Given the description of an element on the screen output the (x, y) to click on. 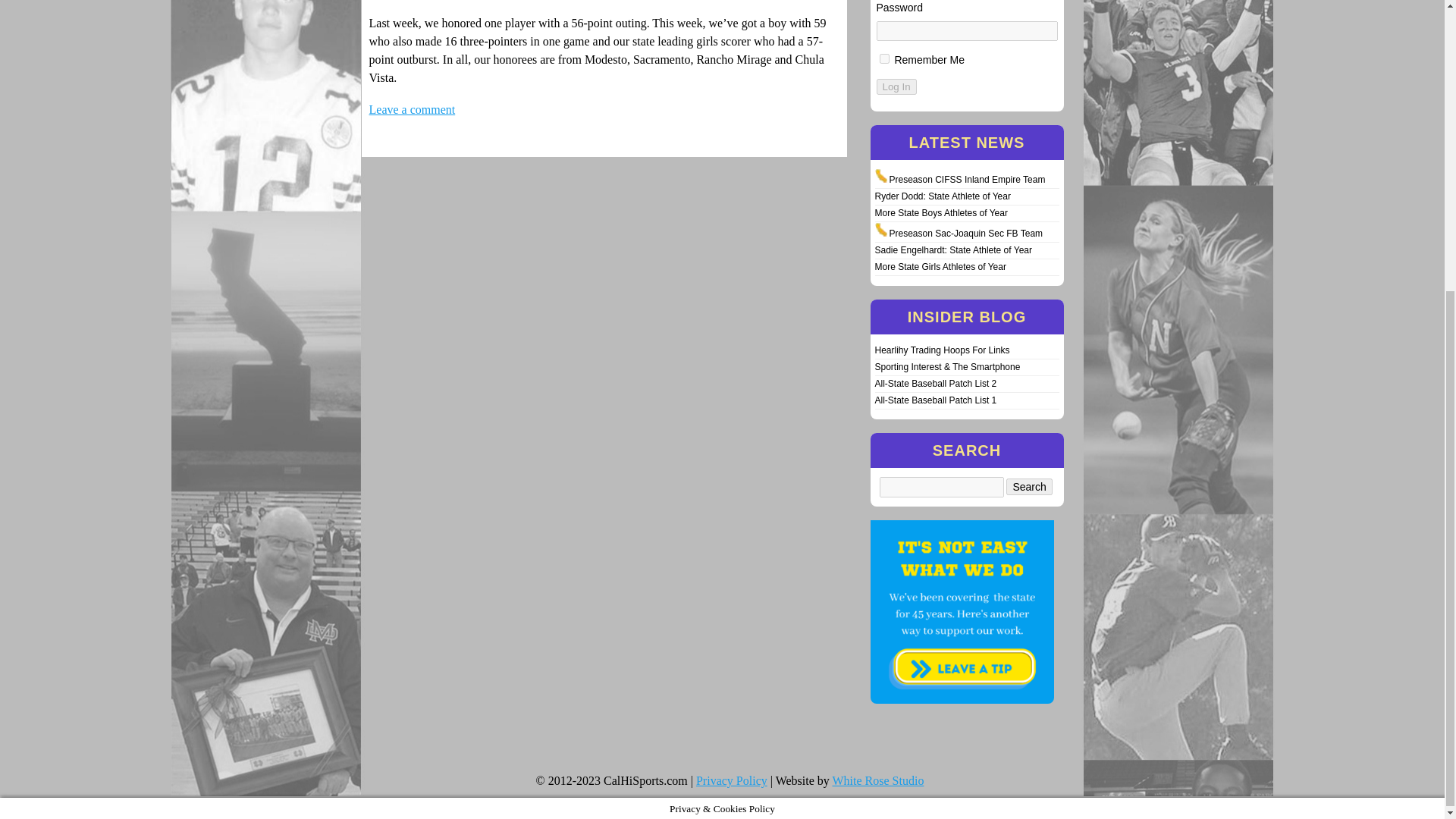
Permalink to Preseason Sac-Joaquin Sec FB Team (965, 233)
Permalink to All-State Baseball Patch List 2 (936, 383)
Permalink to All-State Baseball Patch List 1 (936, 399)
Permalink to Ryder Dodd: State Athlete of Year (942, 195)
Permalink to More State Girls Athletes of Year (940, 266)
forever (884, 58)
Search (1028, 486)
Permalink to Sadie Engelhardt: State Athlete of Year (953, 249)
Permalink to More State Boys Athletes of Year (941, 213)
Permalink to Hearlihy Trading Hoops For Links (942, 349)
